Given the description of an element on the screen output the (x, y) to click on. 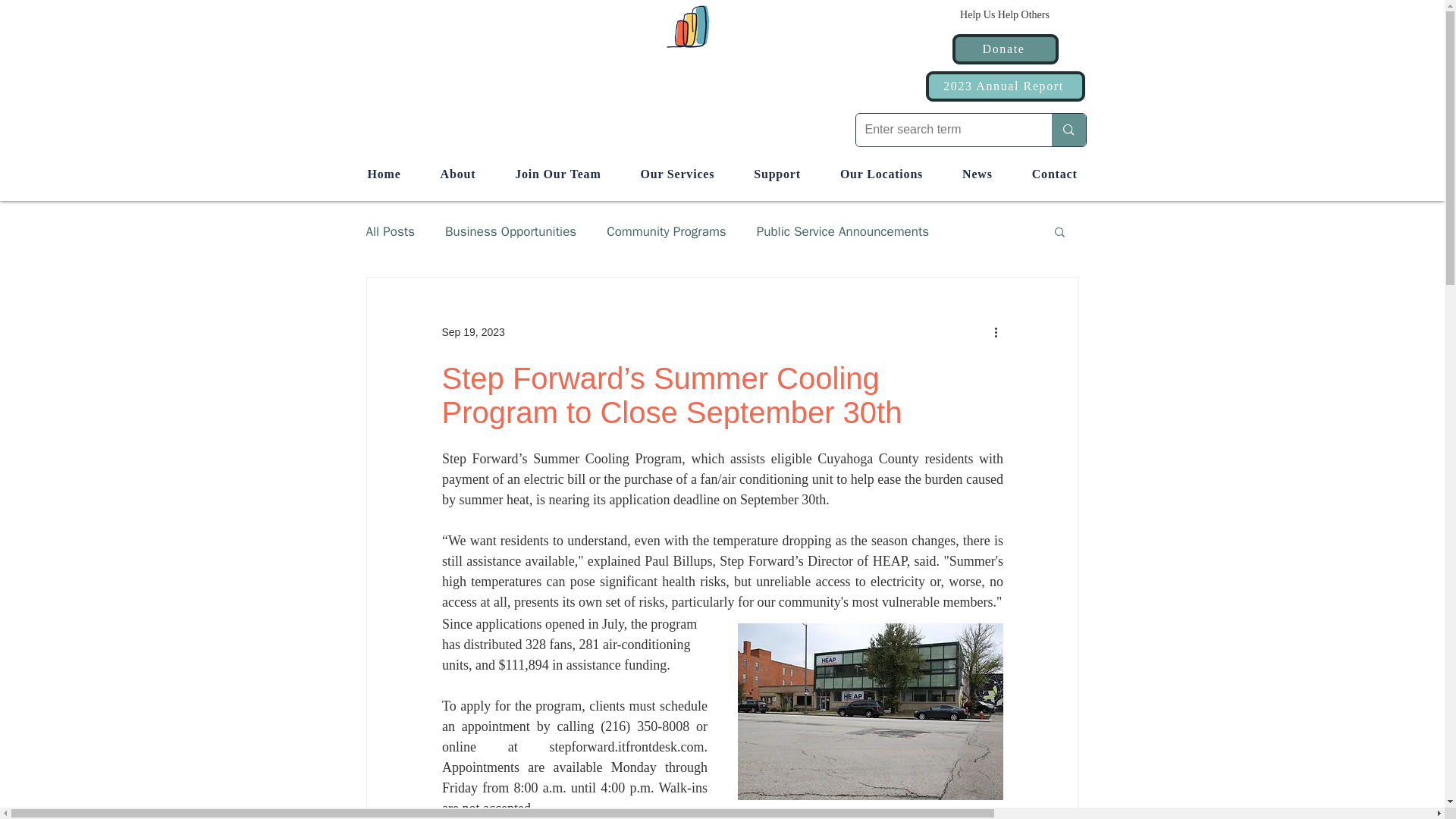
All Posts (389, 231)
About (458, 174)
Join Our Team (557, 174)
Contact (1054, 174)
Sep 19, 2023 (472, 331)
2023 Annual Report (1004, 86)
News (976, 174)
Community Programs (666, 231)
Business Opportunities (510, 231)
Home (383, 174)
